Given the description of an element on the screen output the (x, y) to click on. 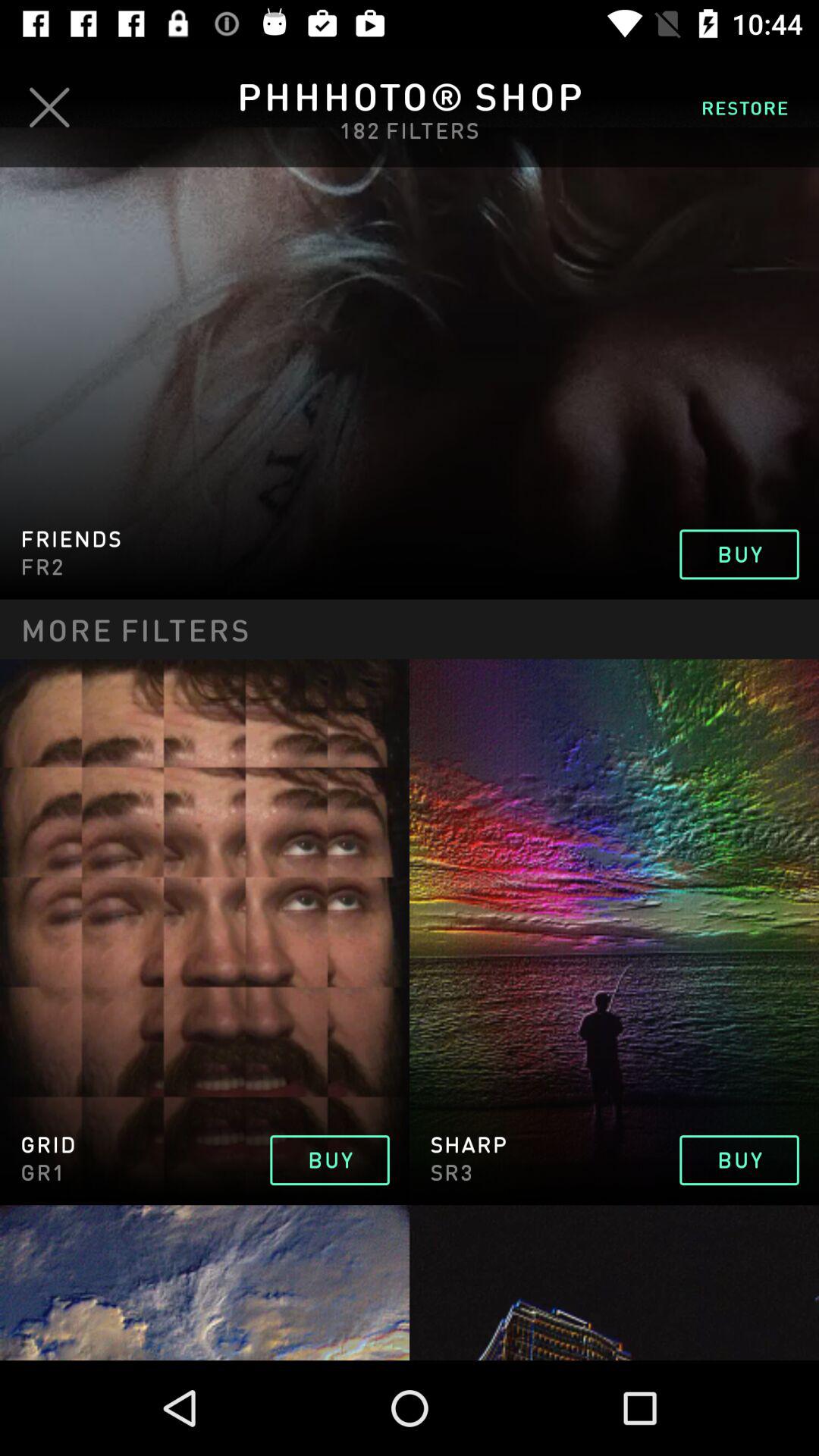
turn on the item above buy icon (744, 107)
